Given the description of an element on the screen output the (x, y) to click on. 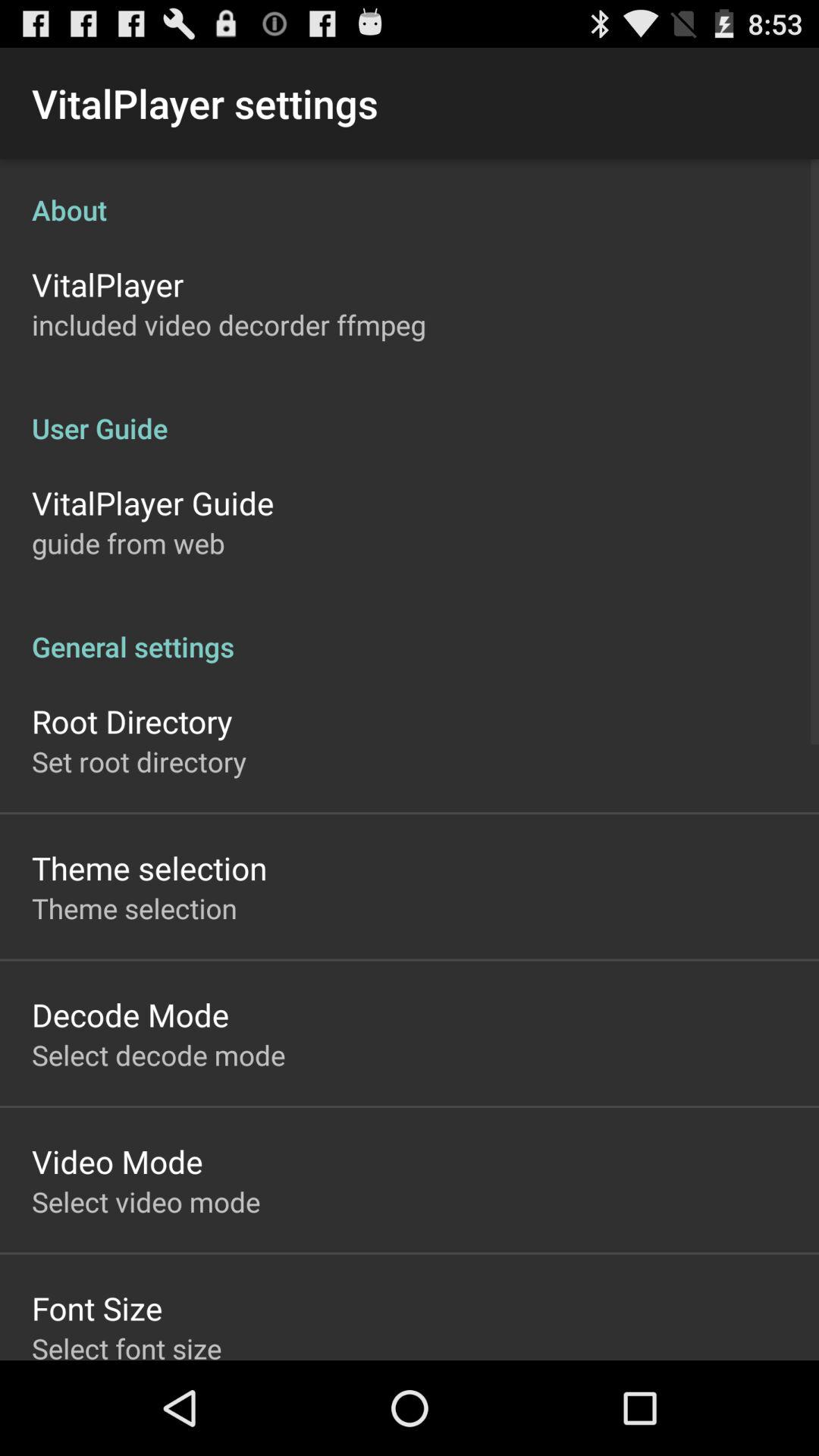
swipe to the vitalplayer guide icon (152, 502)
